Given the description of an element on the screen output the (x, y) to click on. 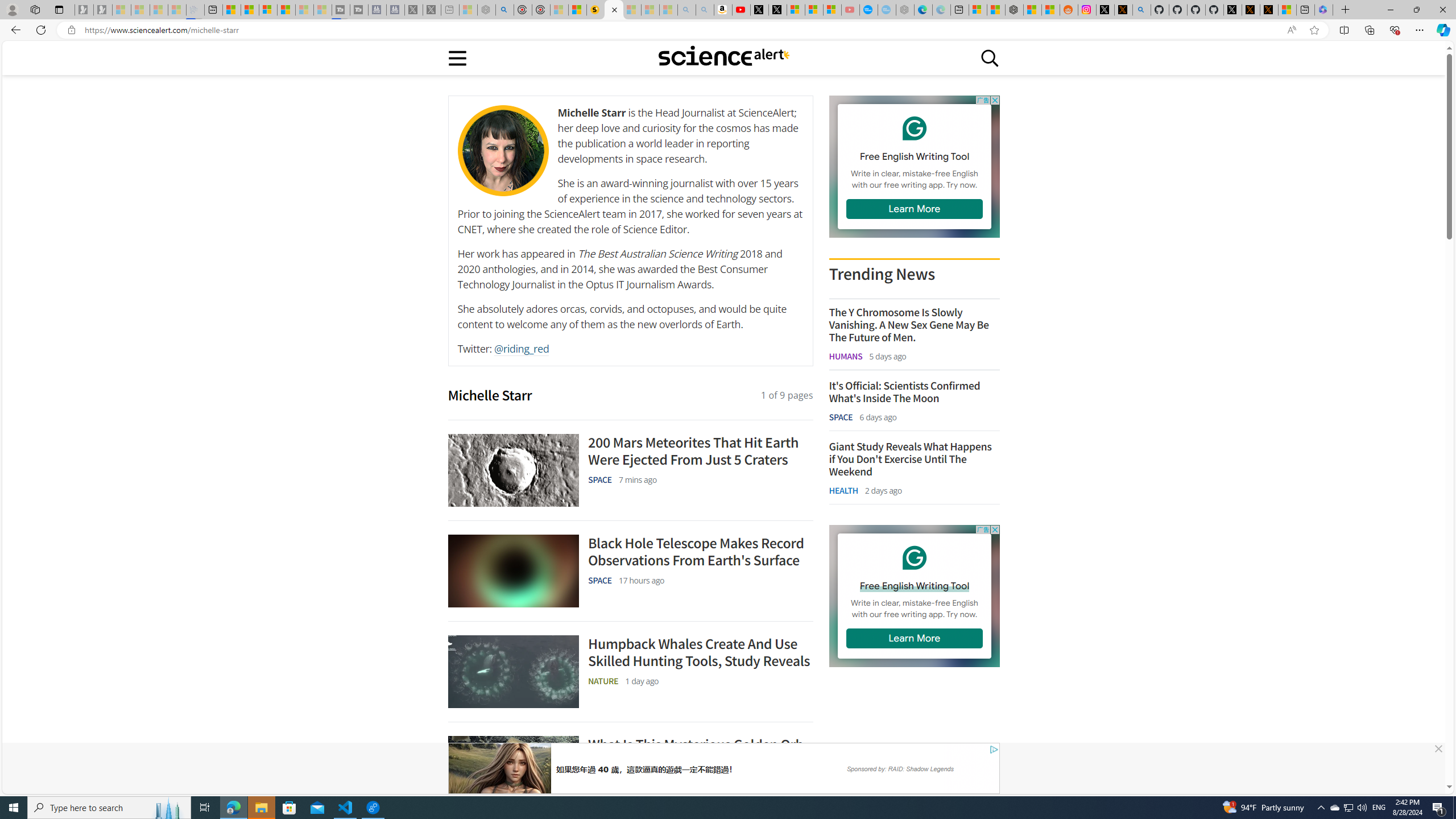
A grey image of a crater on Mars (512, 470)
Nordace - Nordace has arrived Hong Kong - Sleeping (904, 9)
Our Team (502, 150)
